Given the description of an element on the screen output the (x, y) to click on. 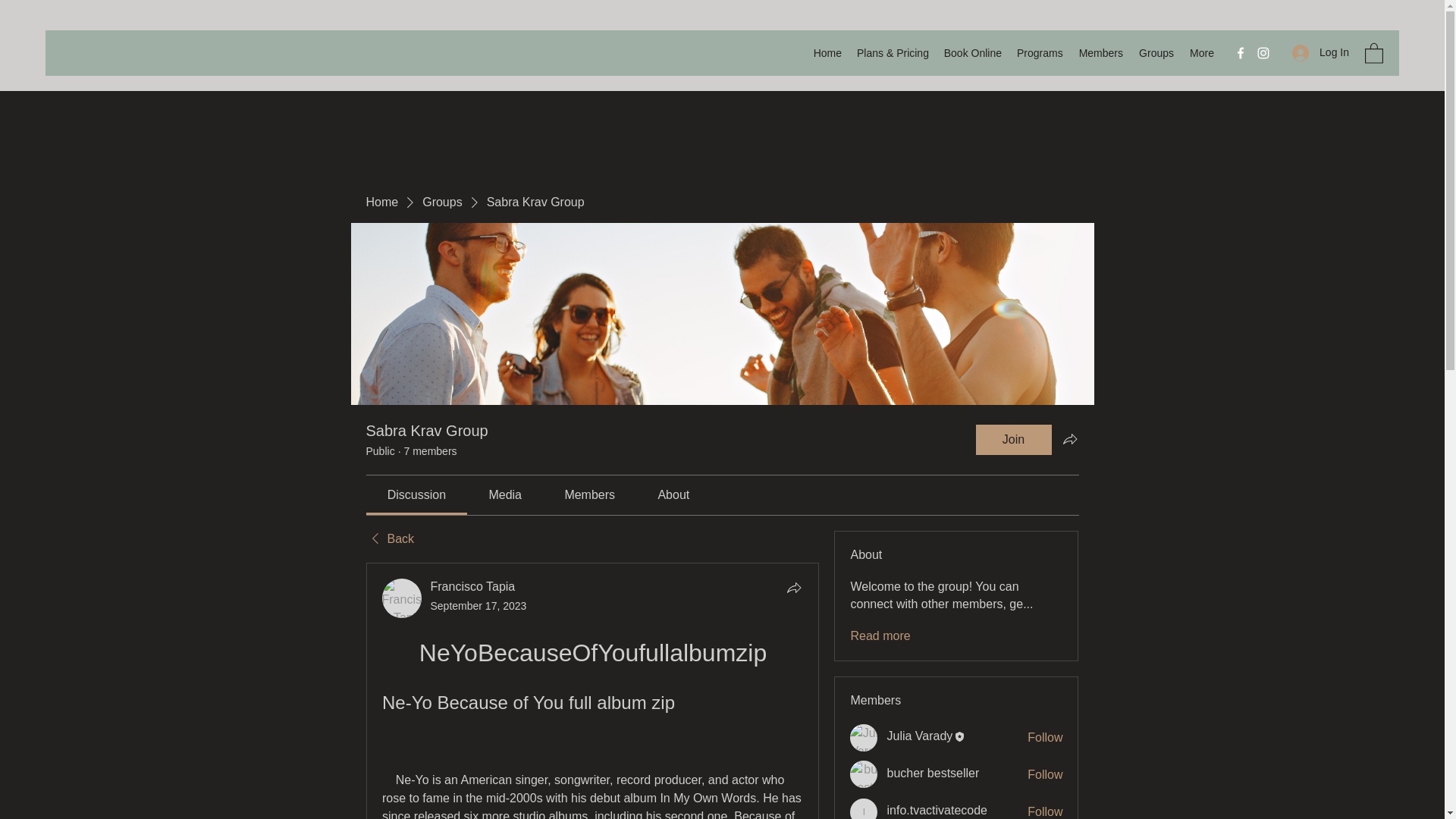
Groups (1155, 52)
Programs (1039, 52)
Back (389, 538)
info.tvactivatecode (863, 808)
Members (1100, 52)
Follow (1044, 737)
bucher bestseller (863, 773)
Francisco Tapia (401, 598)
Follow (1044, 811)
Follow (1044, 774)
Julia Varady (863, 737)
Julia Varady (919, 735)
Log In (1320, 52)
Join (1013, 440)
September 17, 2023 (478, 605)
